Given the description of an element on the screen output the (x, y) to click on. 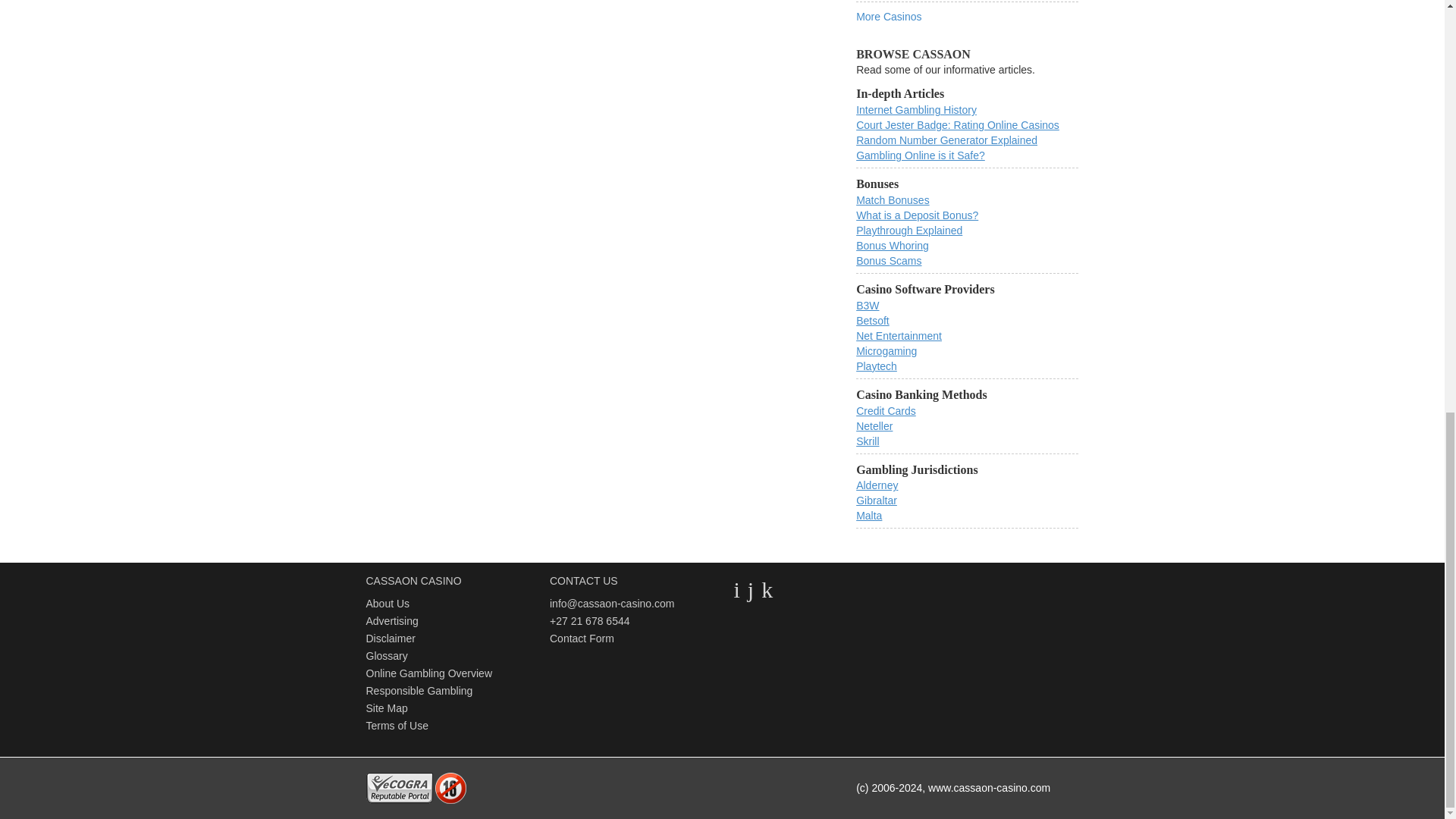
Like Us gplus (767, 589)
Follow Us On Twitter (736, 589)
Follow Us on Facebook (751, 589)
